Given the description of an element on the screen output the (x, y) to click on. 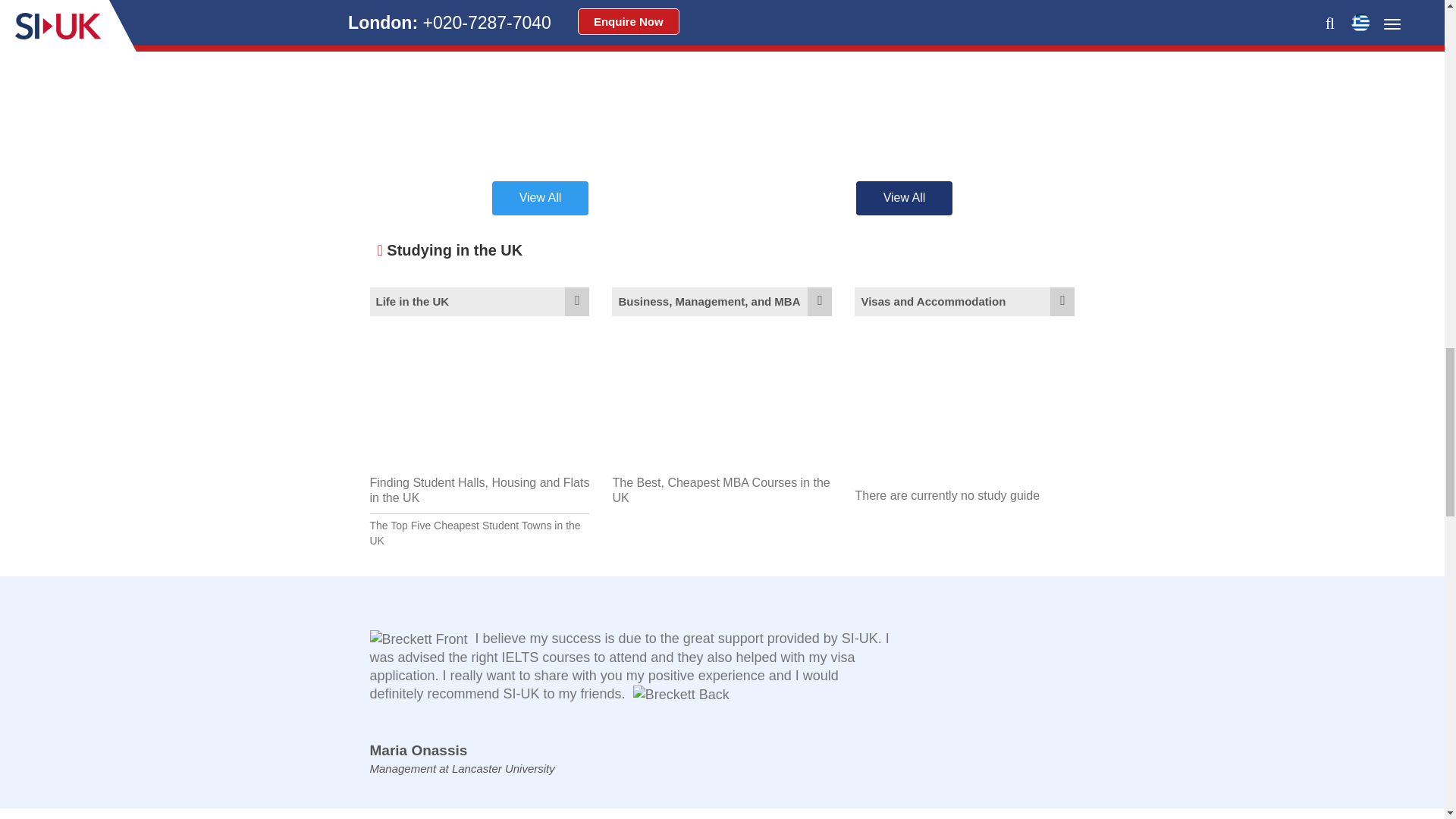
There are currently no events (903, 84)
